Given the description of an element on the screen output the (x, y) to click on. 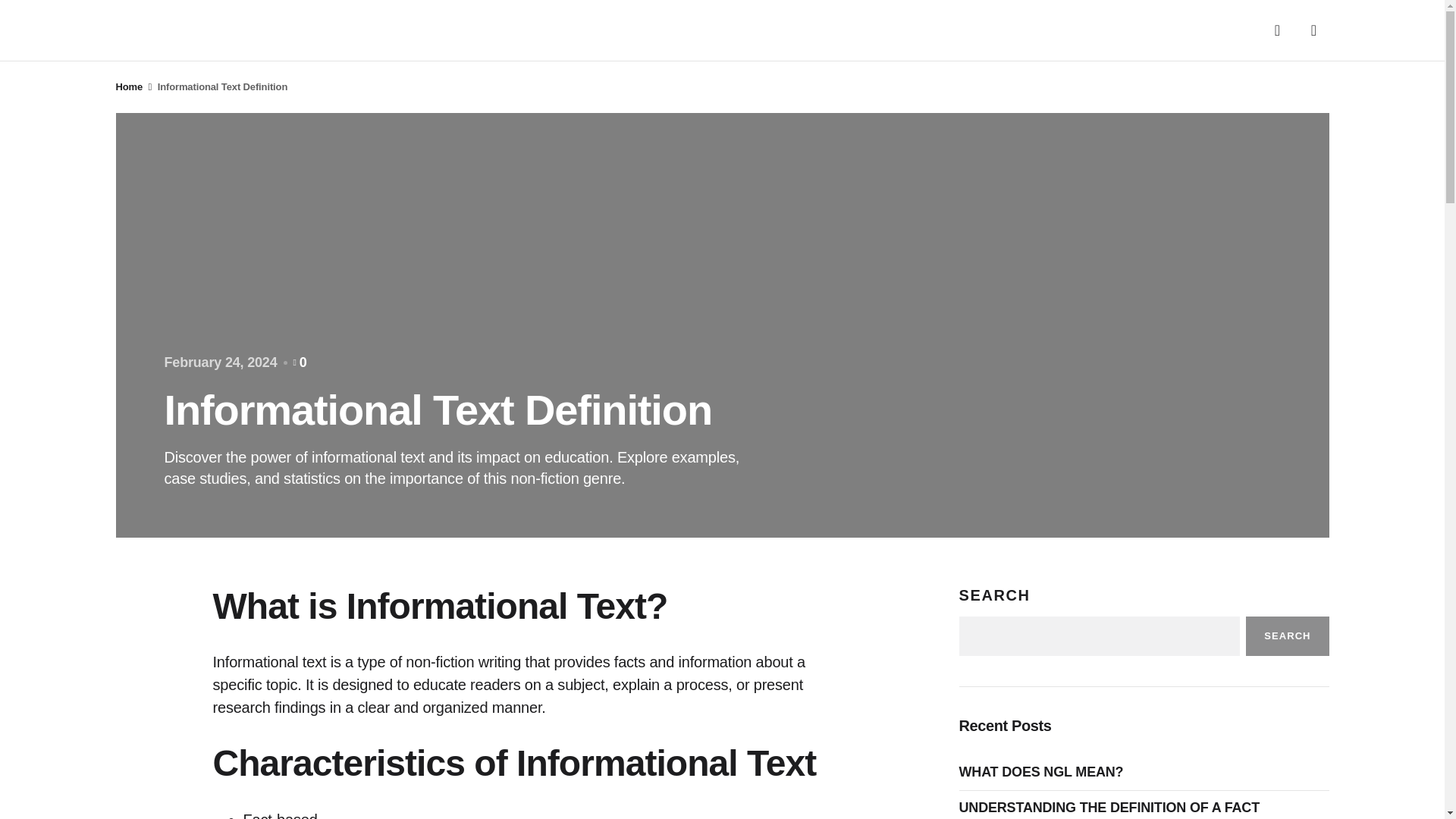
SEARCH (1286, 636)
WHAT DOES NGL MEAN? (1044, 772)
UNDERSTANDING THE DEFINITION OF A FACT (1112, 808)
Home (128, 86)
